Given the description of an element on the screen output the (x, y) to click on. 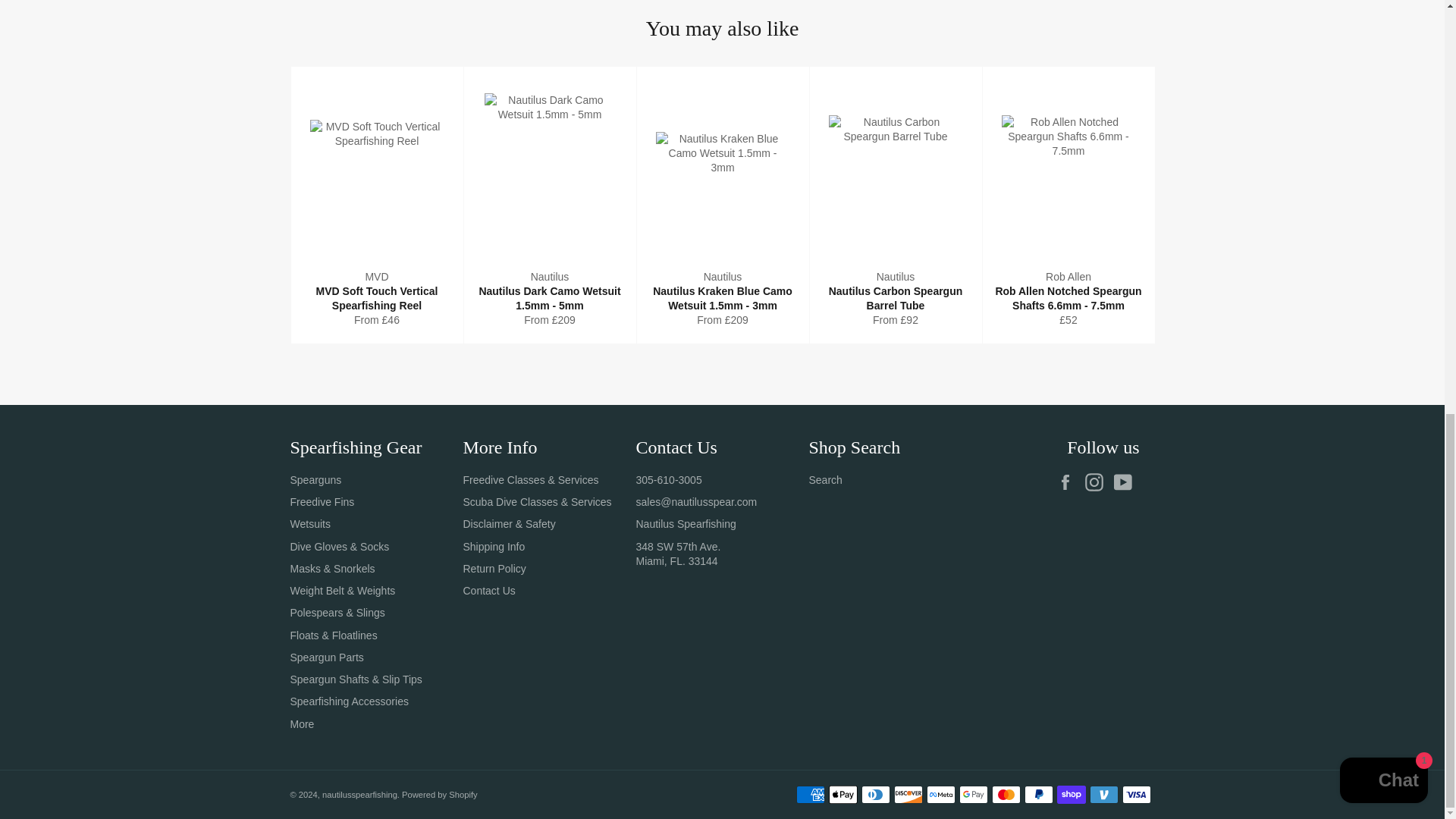
nautilusspearfishing on YouTube (1125, 482)
nautilusspearfishing on Facebook (1069, 482)
nautilusspearfishing on Instagram (1097, 482)
